Given the description of an element on the screen output the (x, y) to click on. 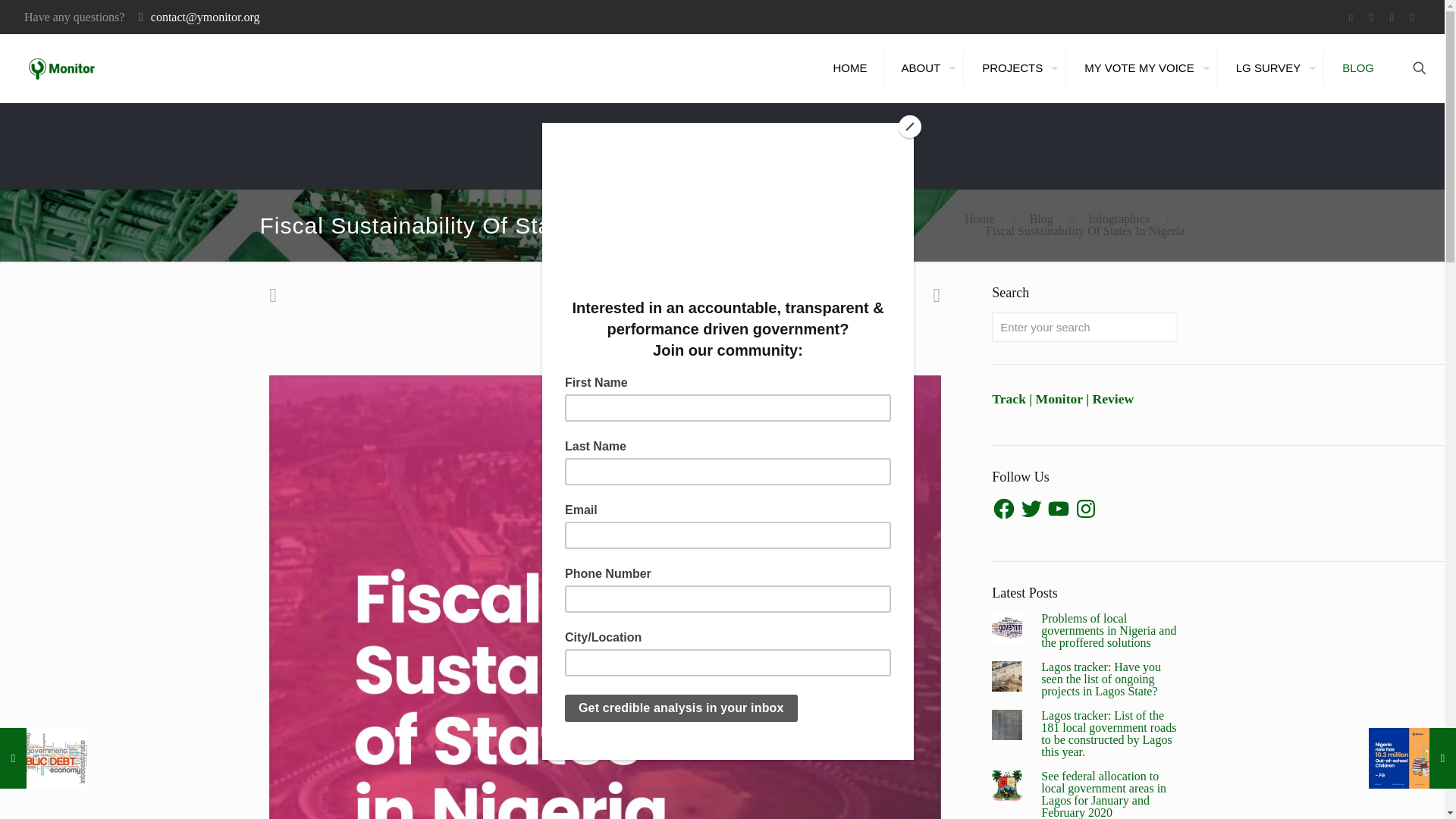
ABOUT (924, 67)
Facebook (1350, 17)
LG SURVEY (1272, 67)
MY VOTE MY VOICE (1142, 67)
Twitter (1370, 17)
PROJECTS (1015, 67)
YouTube (1391, 17)
HOME (850, 67)
Instagram (1413, 17)
